Given the description of an element on the screen output the (x, y) to click on. 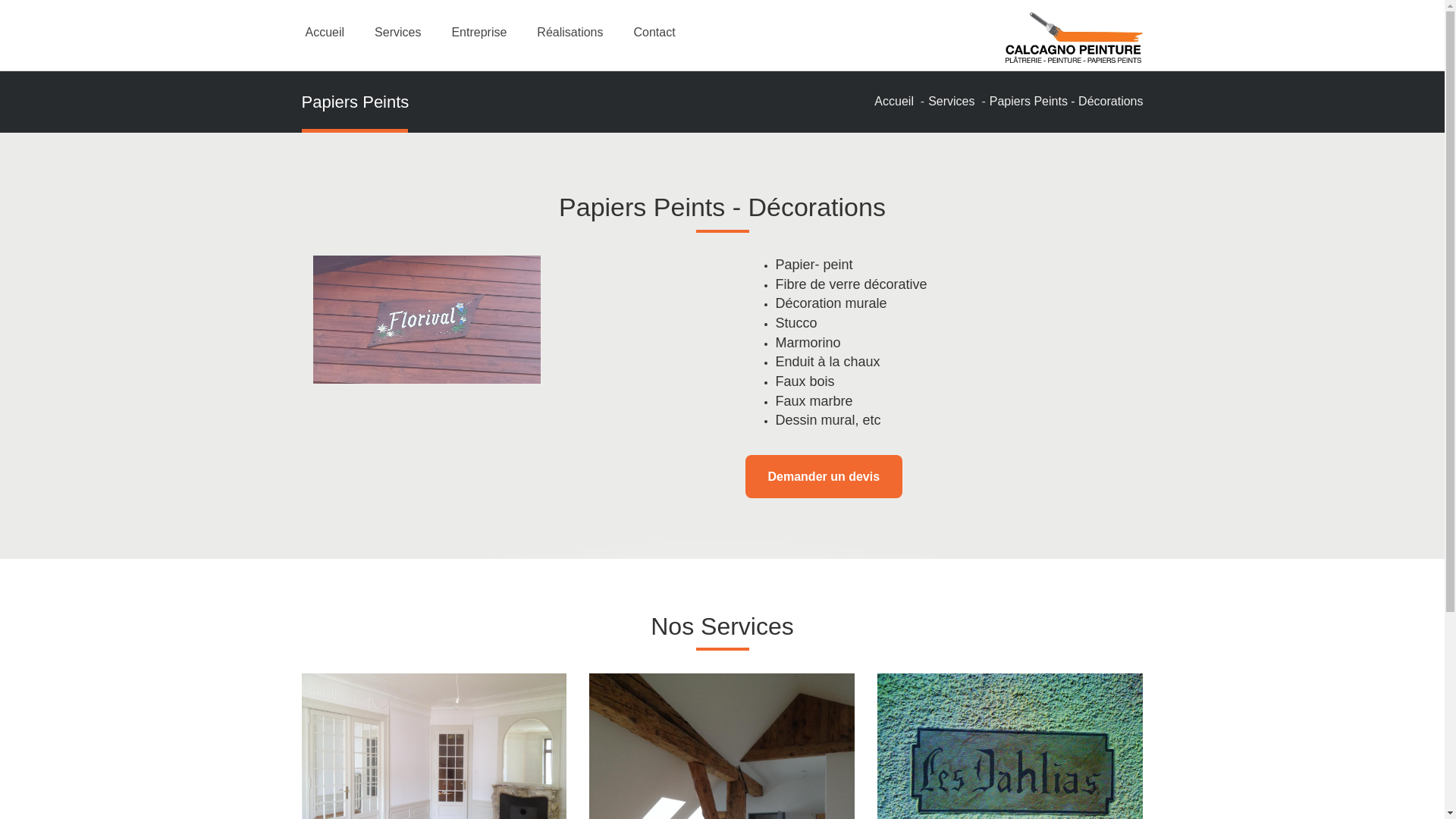
Accueil Element type: text (324, 32)
Demander un devis Element type: text (823, 476)
Entreprise Element type: text (478, 32)
Accueil Element type: text (893, 100)
Aller au contenu principal Element type: text (0, 0)
Contact Element type: text (654, 32)
